Given the description of an element on the screen output the (x, y) to click on. 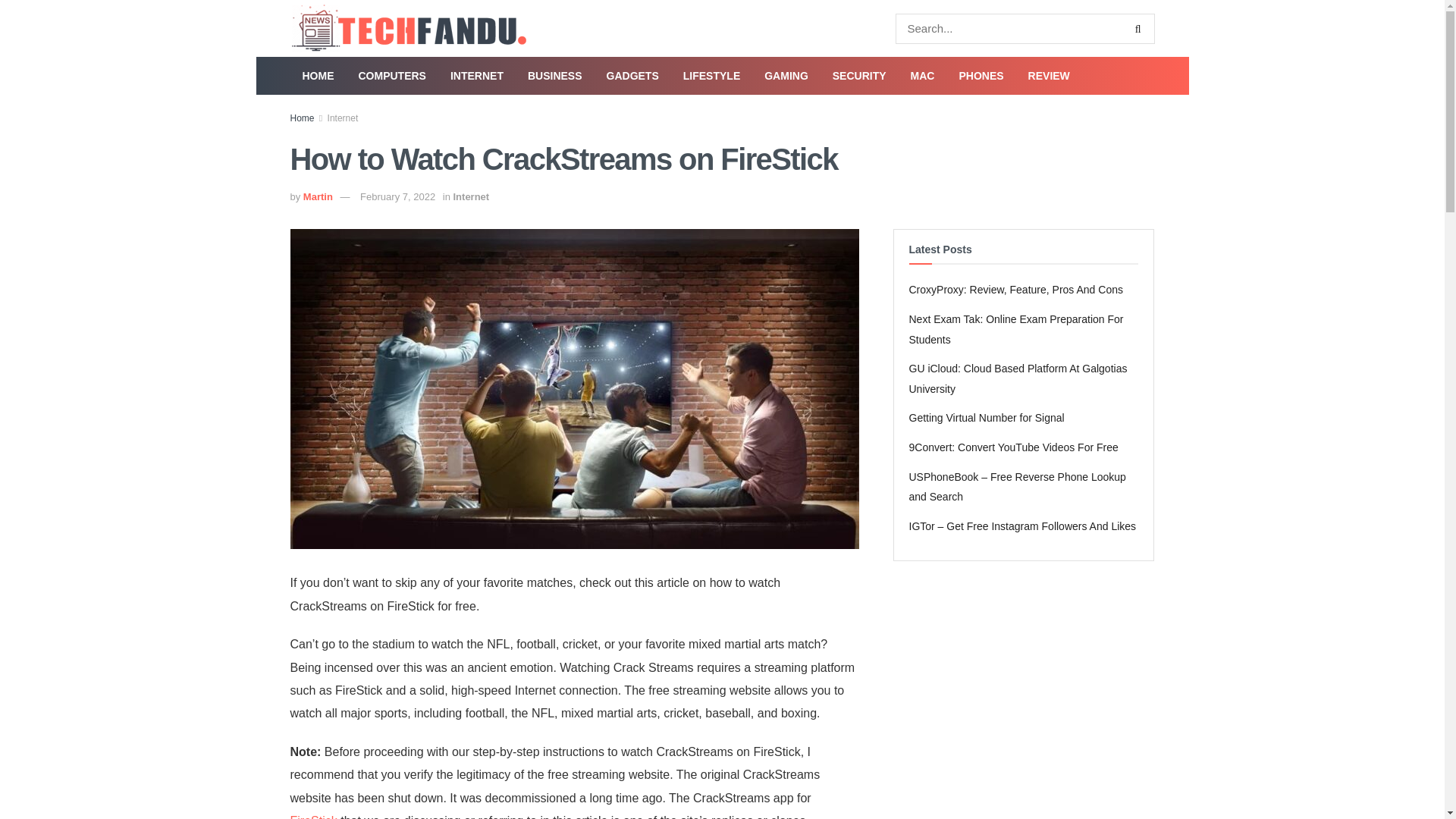
SECURITY (859, 75)
Martin (317, 196)
HOME (317, 75)
Home (301, 118)
Internet (342, 118)
February 7, 2022 (397, 196)
PHONES (980, 75)
COMPUTERS (392, 75)
BUSINESS (554, 75)
INTERNET (476, 75)
FireStick (312, 816)
Internet (470, 196)
LIFESTYLE (711, 75)
GADGETS (632, 75)
REVIEW (1048, 75)
